Given the description of an element on the screen output the (x, y) to click on. 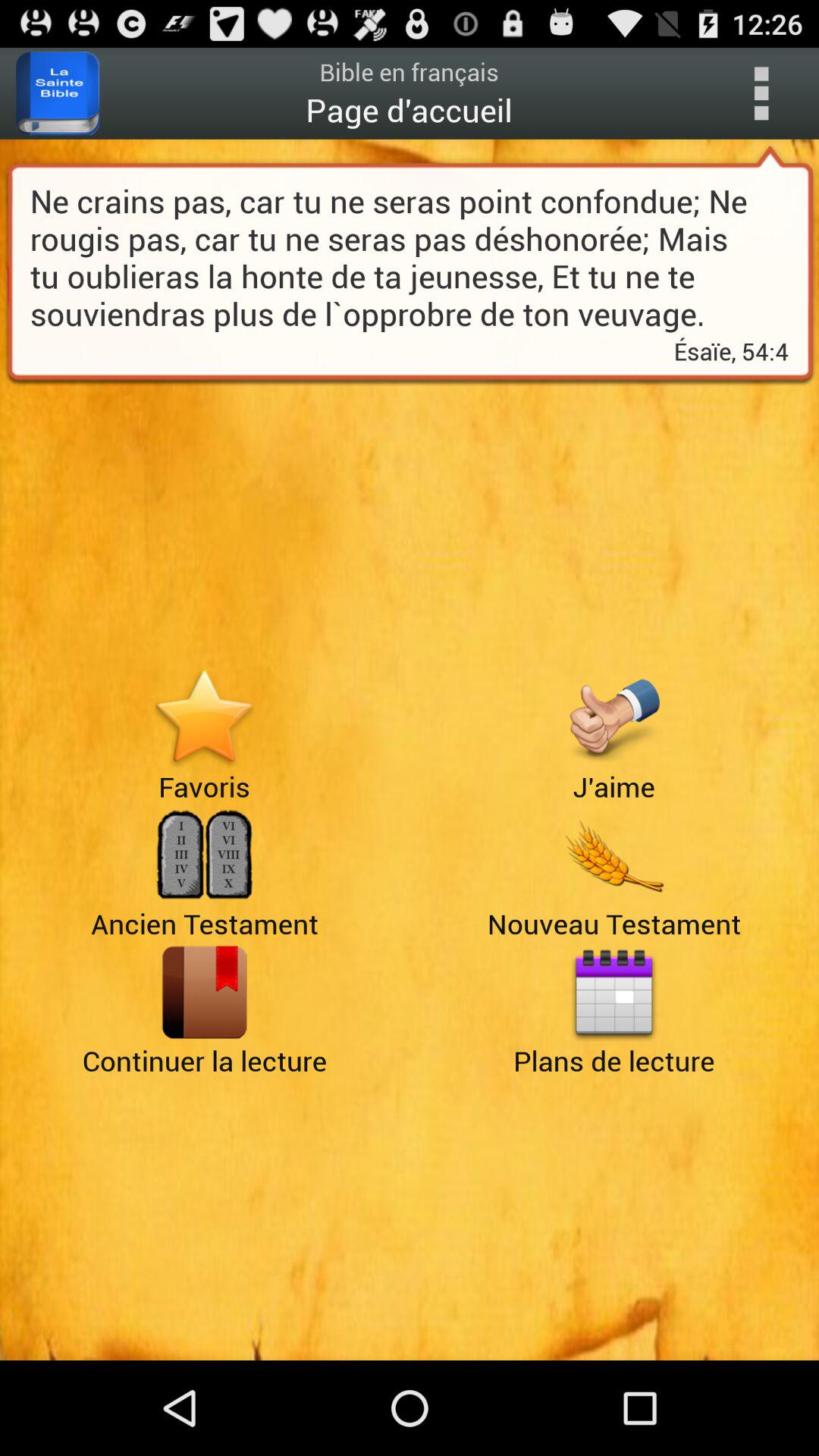
expand settings (761, 93)
